Given the description of an element on the screen output the (x, y) to click on. 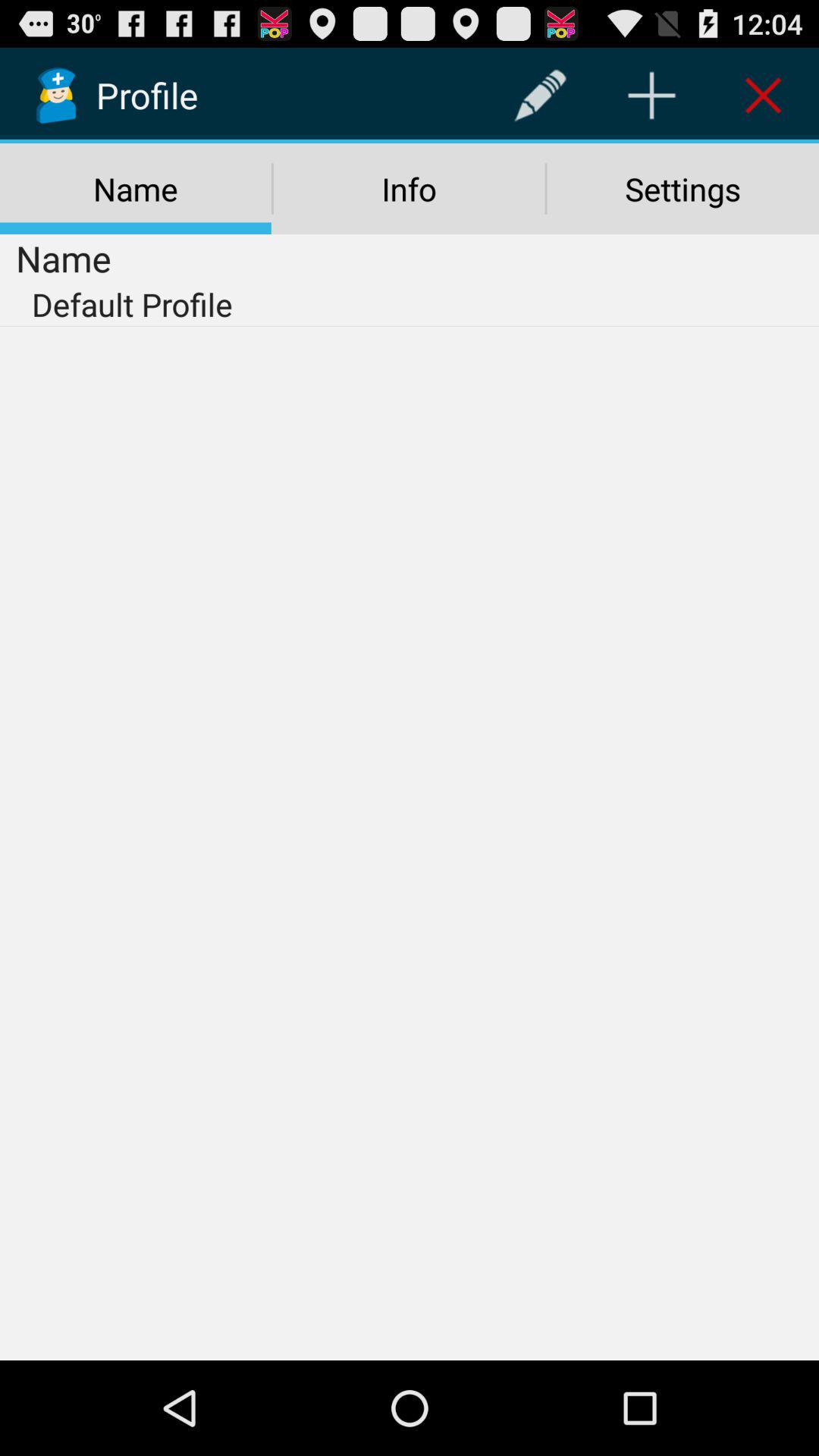
select item next to name item (408, 188)
